Given the description of an element on the screen output the (x, y) to click on. 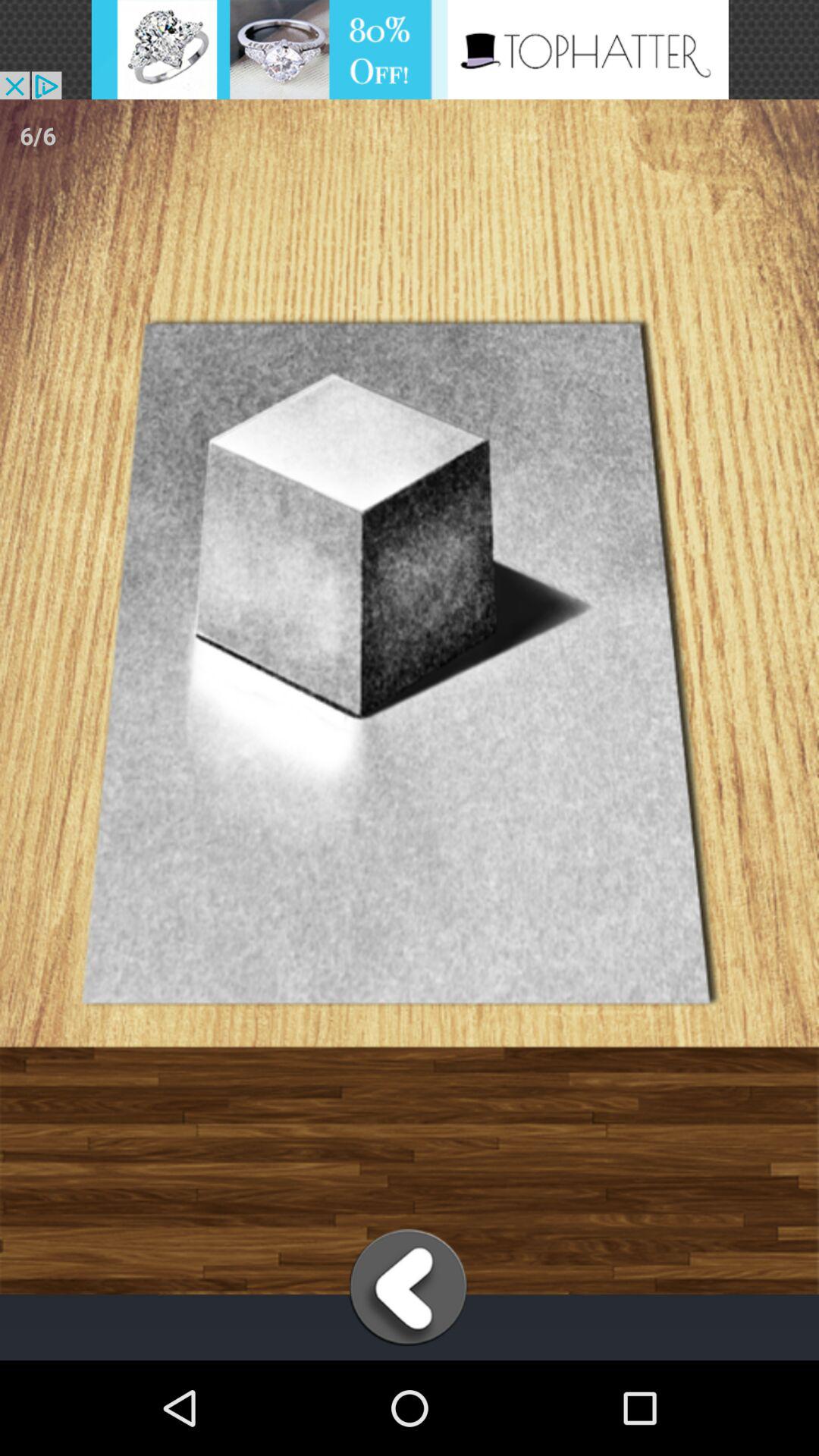
advertisement link (409, 49)
